Given the description of an element on the screen output the (x, y) to click on. 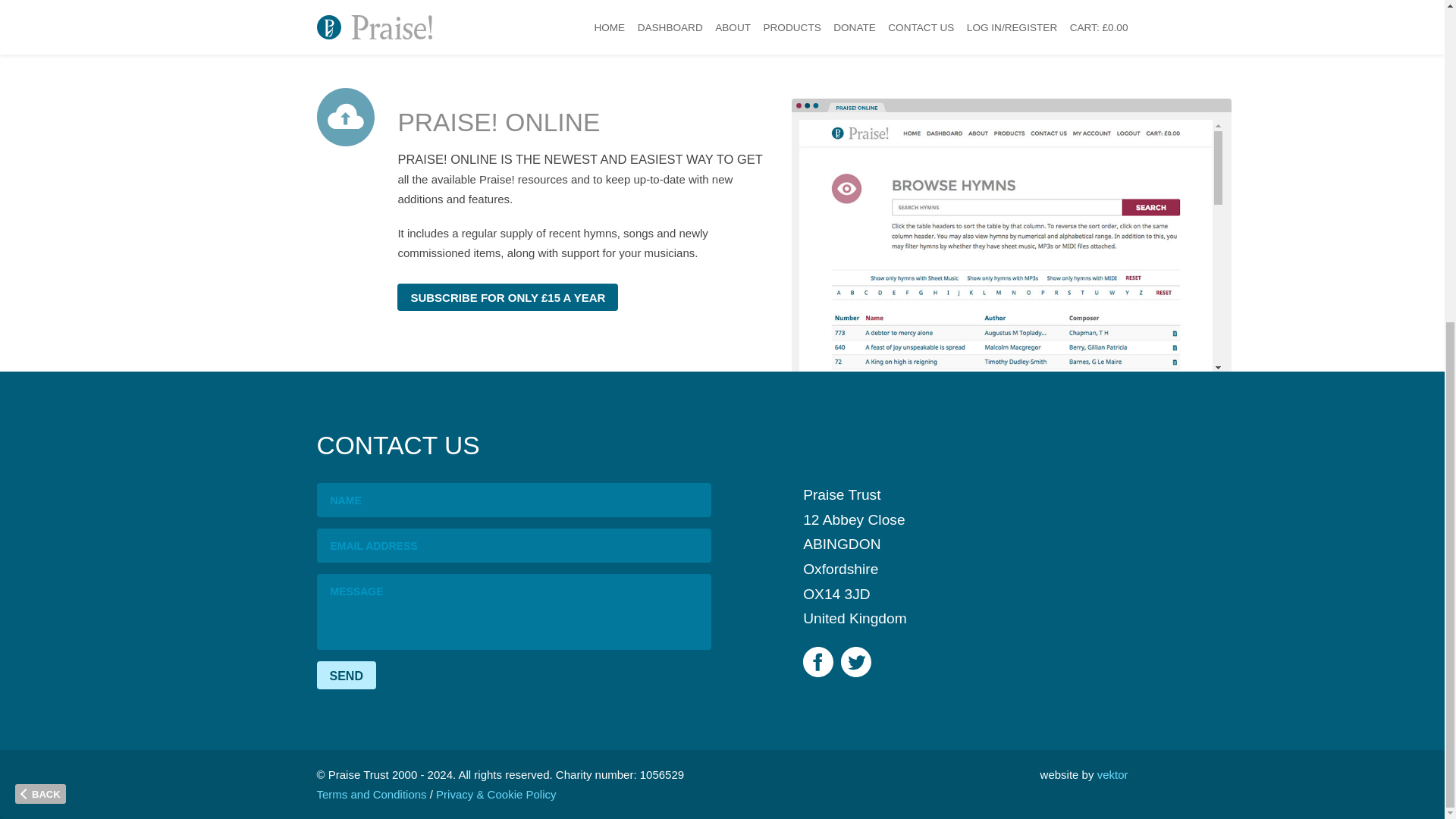
Send (346, 674)
vektor (1112, 774)
Facebook (817, 662)
Send (346, 674)
Terms and Conditions (371, 793)
Twitter (855, 662)
BACK (39, 268)
